Given the description of an element on the screen output the (x, y) to click on. 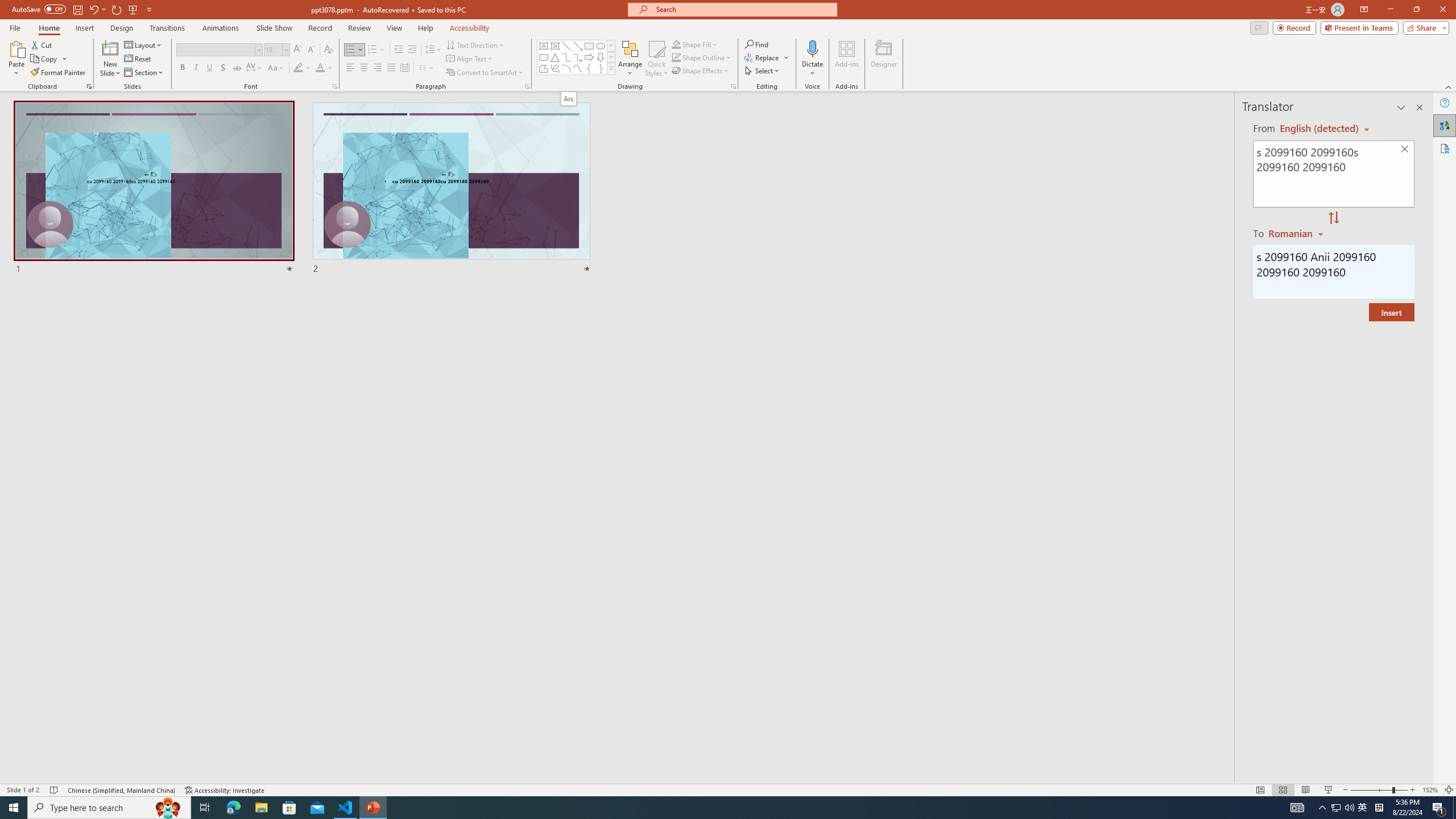
Arc (566, 68)
Font... (334, 85)
Arrow: Down (600, 57)
Freeform: Scribble (554, 68)
